Given the description of an element on the screen output the (x, y) to click on. 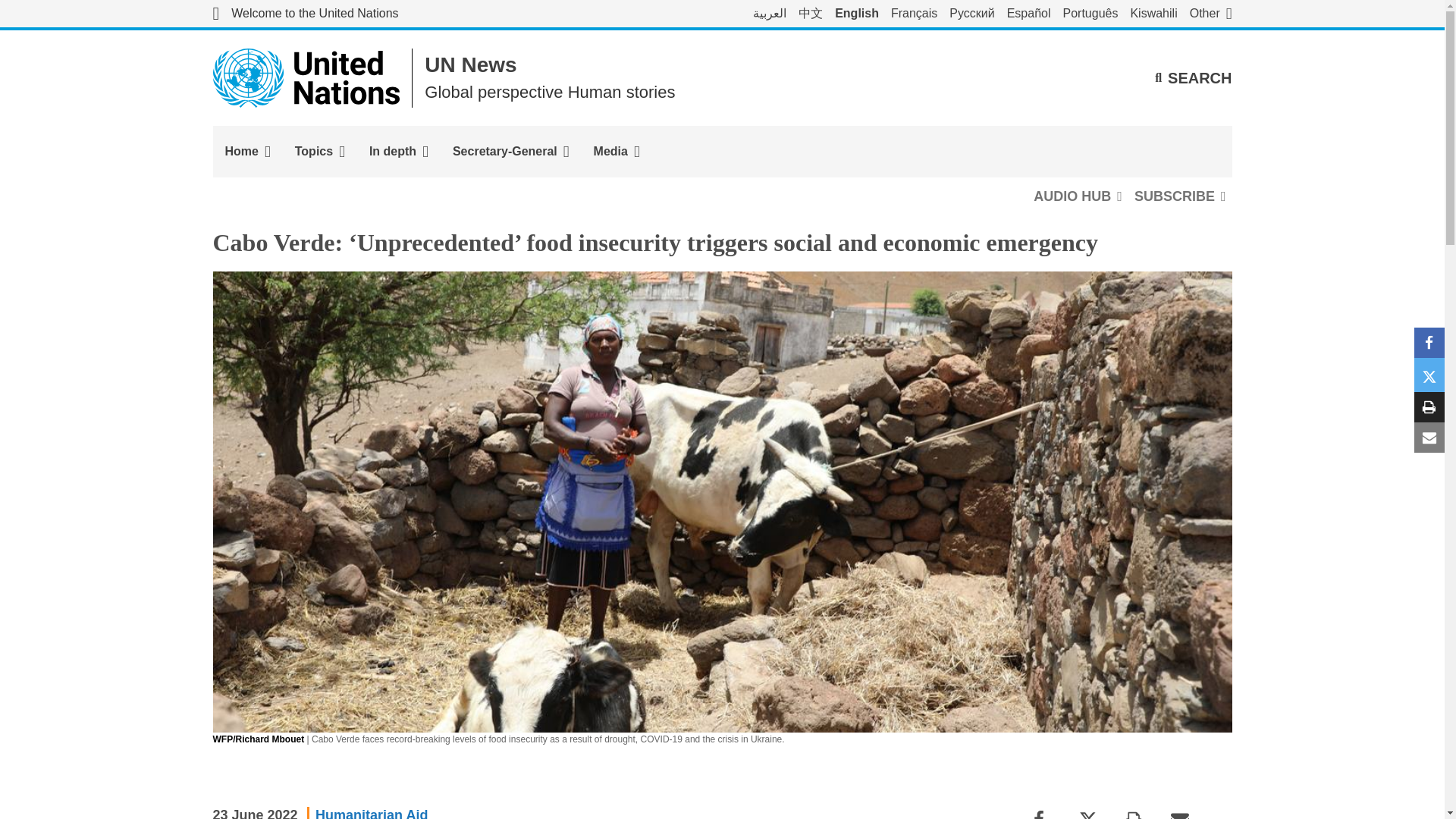
Home (247, 151)
Welcome to the United Nations (304, 13)
SEARCH (1192, 77)
Kiswahili (1152, 13)
United Nations (304, 13)
Home (247, 151)
UN News (470, 64)
Other (1210, 13)
English (856, 13)
UN News (470, 64)
